Given the description of an element on the screen output the (x, y) to click on. 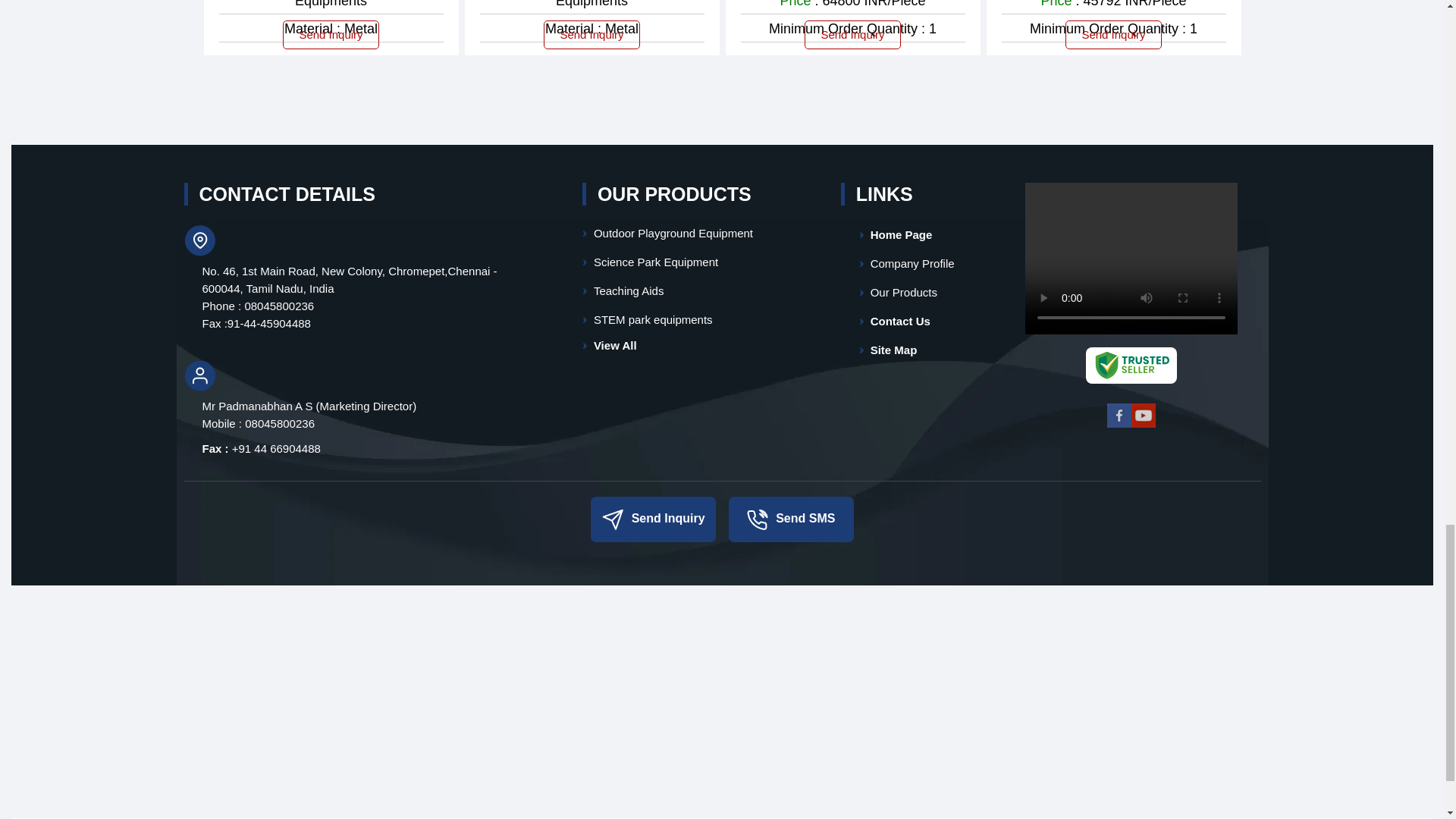
You Tube (1143, 424)
Facebook (1118, 424)
